Given the description of an element on the screen output the (x, y) to click on. 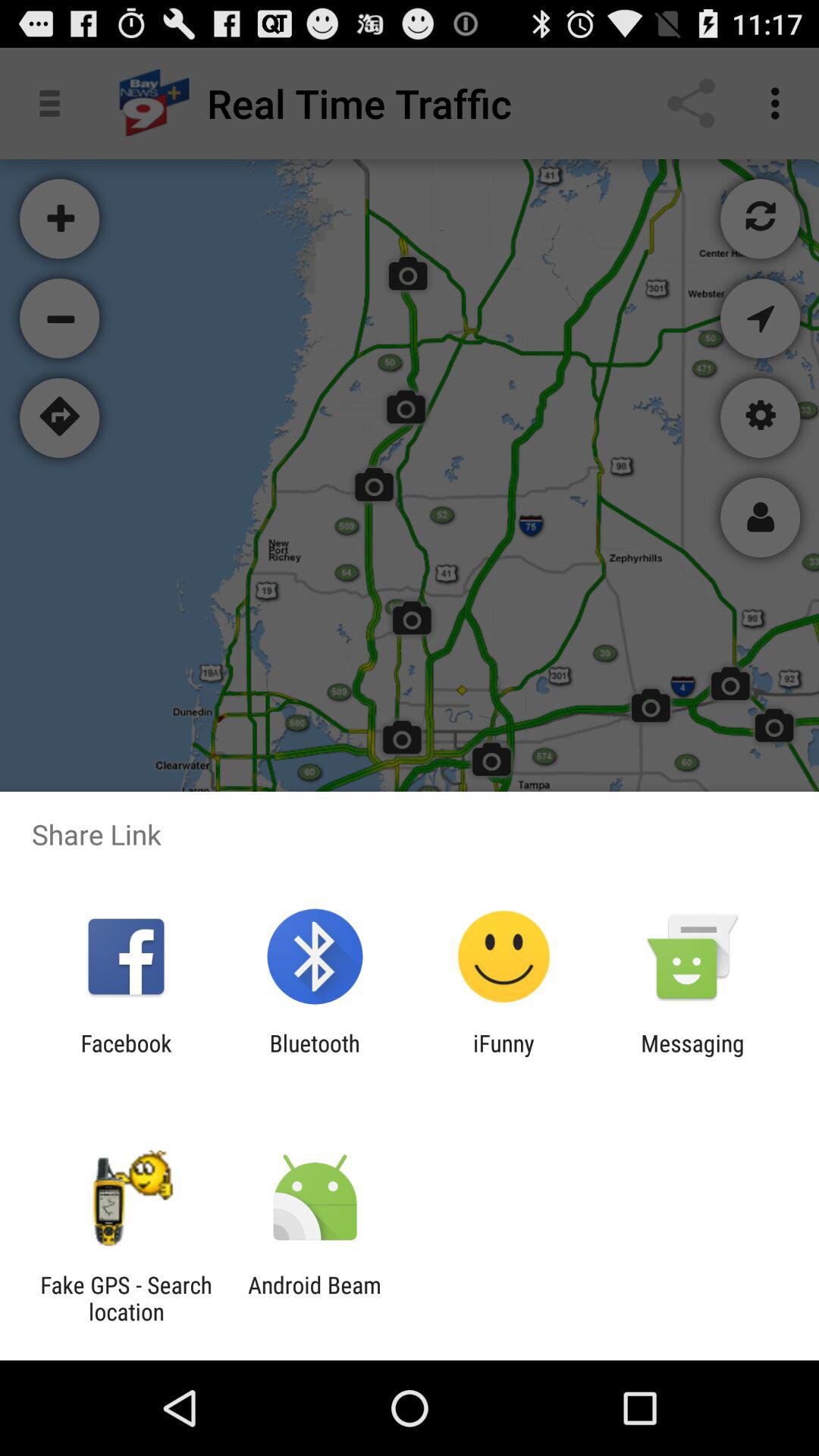
click the messaging item (692, 1056)
